Given the description of an element on the screen output the (x, y) to click on. 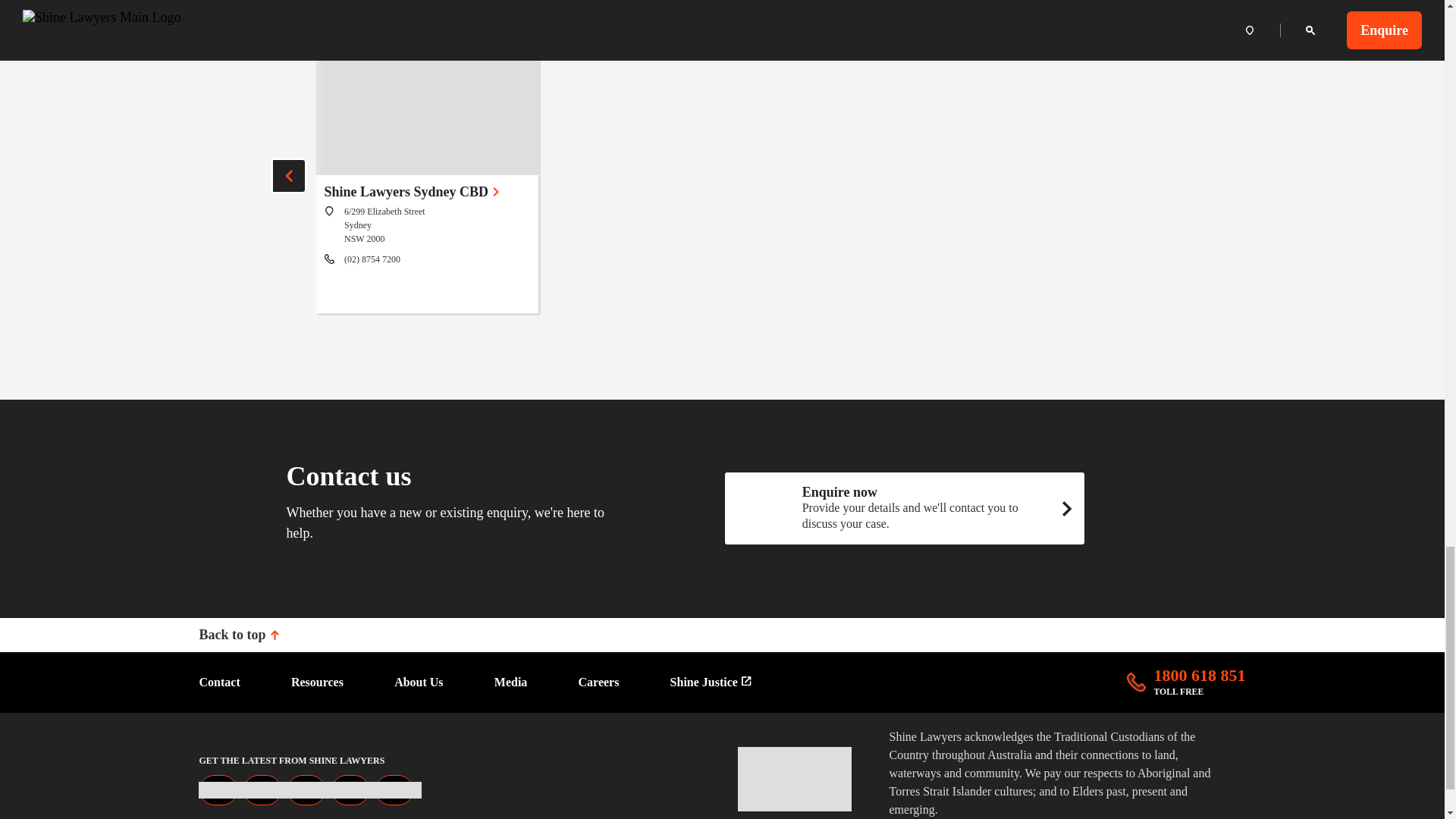
Careers (599, 682)
Resources (317, 682)
Contact (219, 682)
About Us (418, 682)
Media (511, 682)
